Given the description of an element on the screen output the (x, y) to click on. 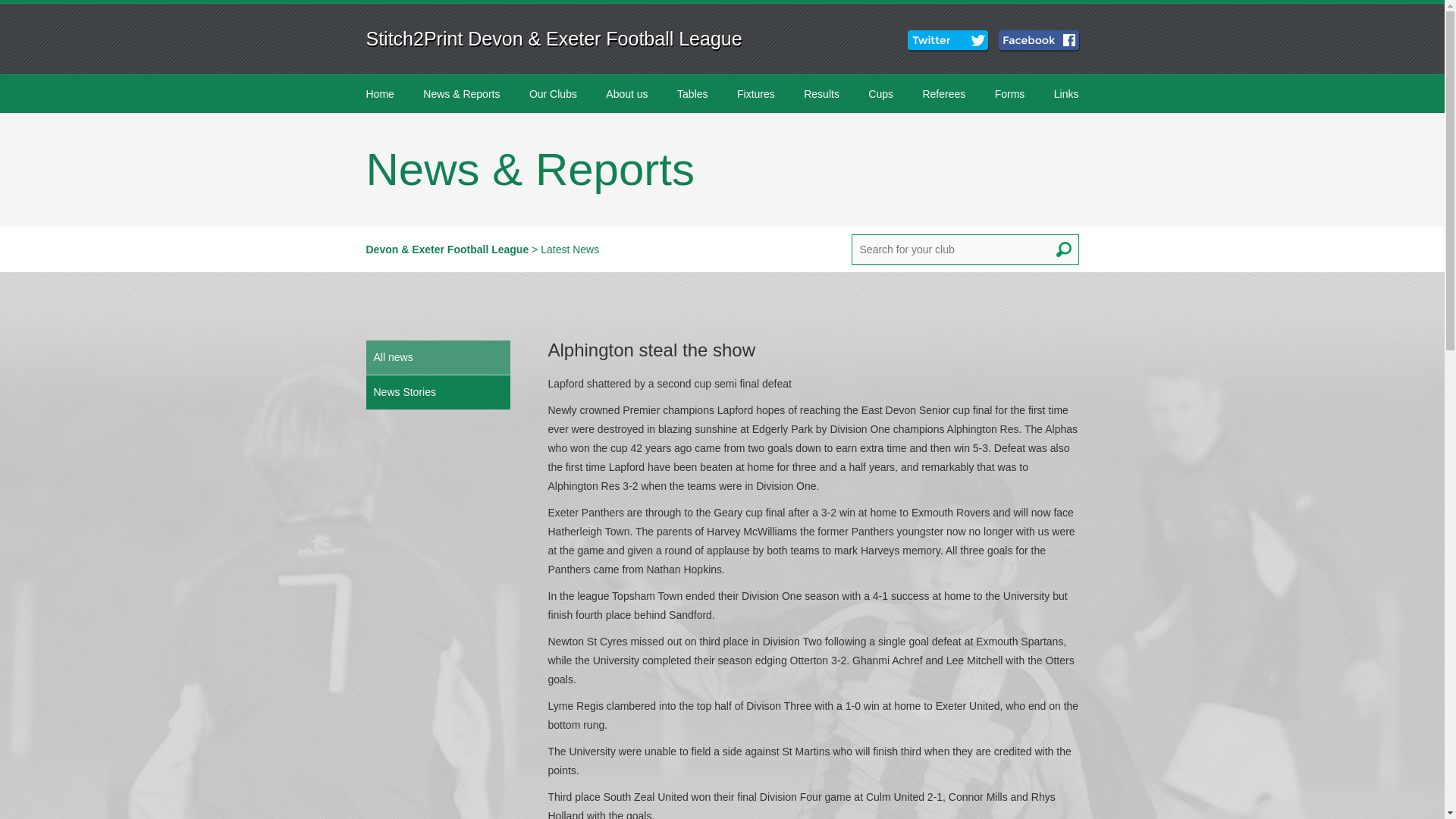
Results (821, 94)
Facebook (1039, 41)
Home (379, 94)
Fixtures (756, 94)
Search (1063, 249)
Tables (691, 94)
Our Clubs (553, 94)
Twitter (949, 41)
About us (626, 94)
